Given the description of an element on the screen output the (x, y) to click on. 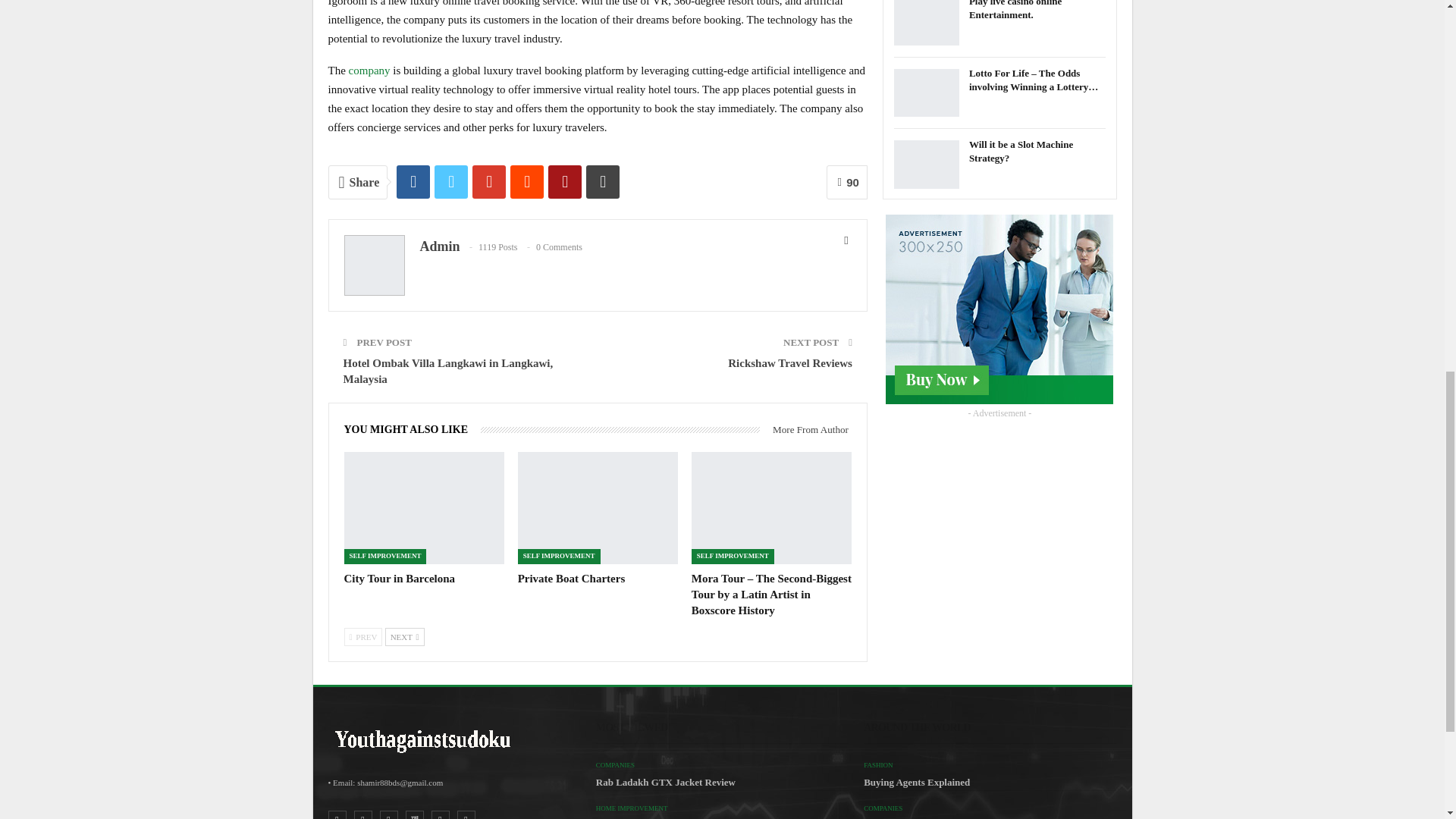
Next (405, 637)
City Tour in Barcelona (399, 578)
Private Boat Charters (572, 578)
City Tour in Barcelona (423, 508)
Previous (362, 637)
Private Boat Charters (598, 508)
